Given the description of an element on the screen output the (x, y) to click on. 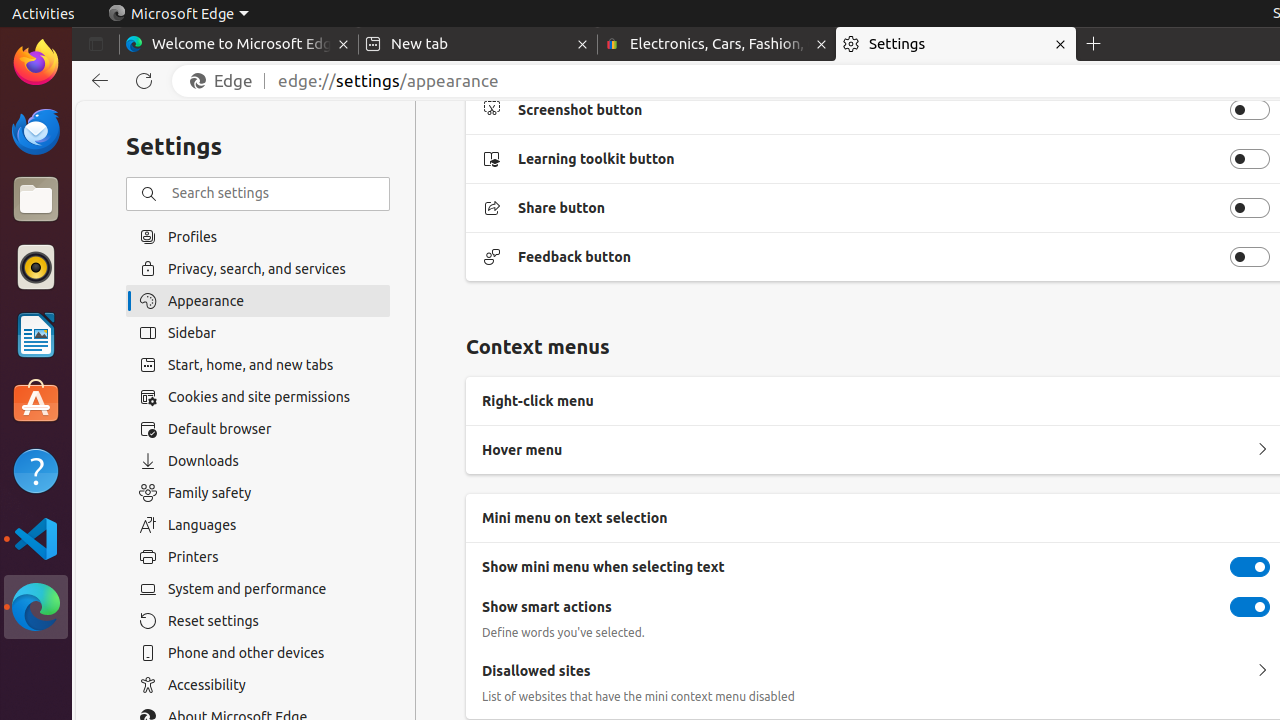
Rhythmbox Element type: push-button (36, 267)
Start, home, and new tabs Element type: tree-item (258, 365)
Reset settings Element type: tree-item (258, 621)
Show mini menu when selecting text Element type: check-box (1250, 567)
Default browser Element type: tree-item (258, 429)
